Given the description of an element on the screen output the (x, y) to click on. 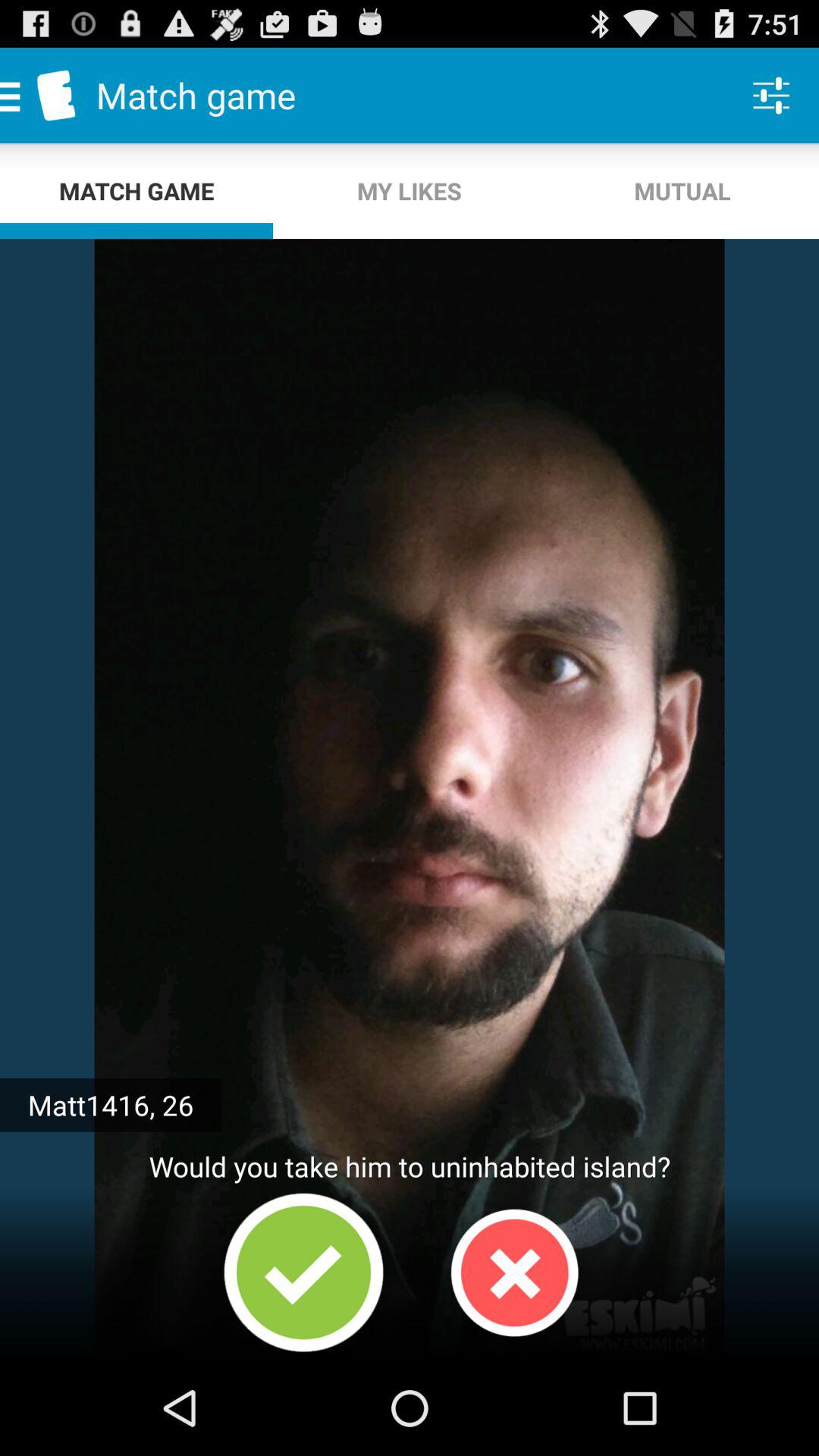
press the item at the top (409, 190)
